Given the description of an element on the screen output the (x, y) to click on. 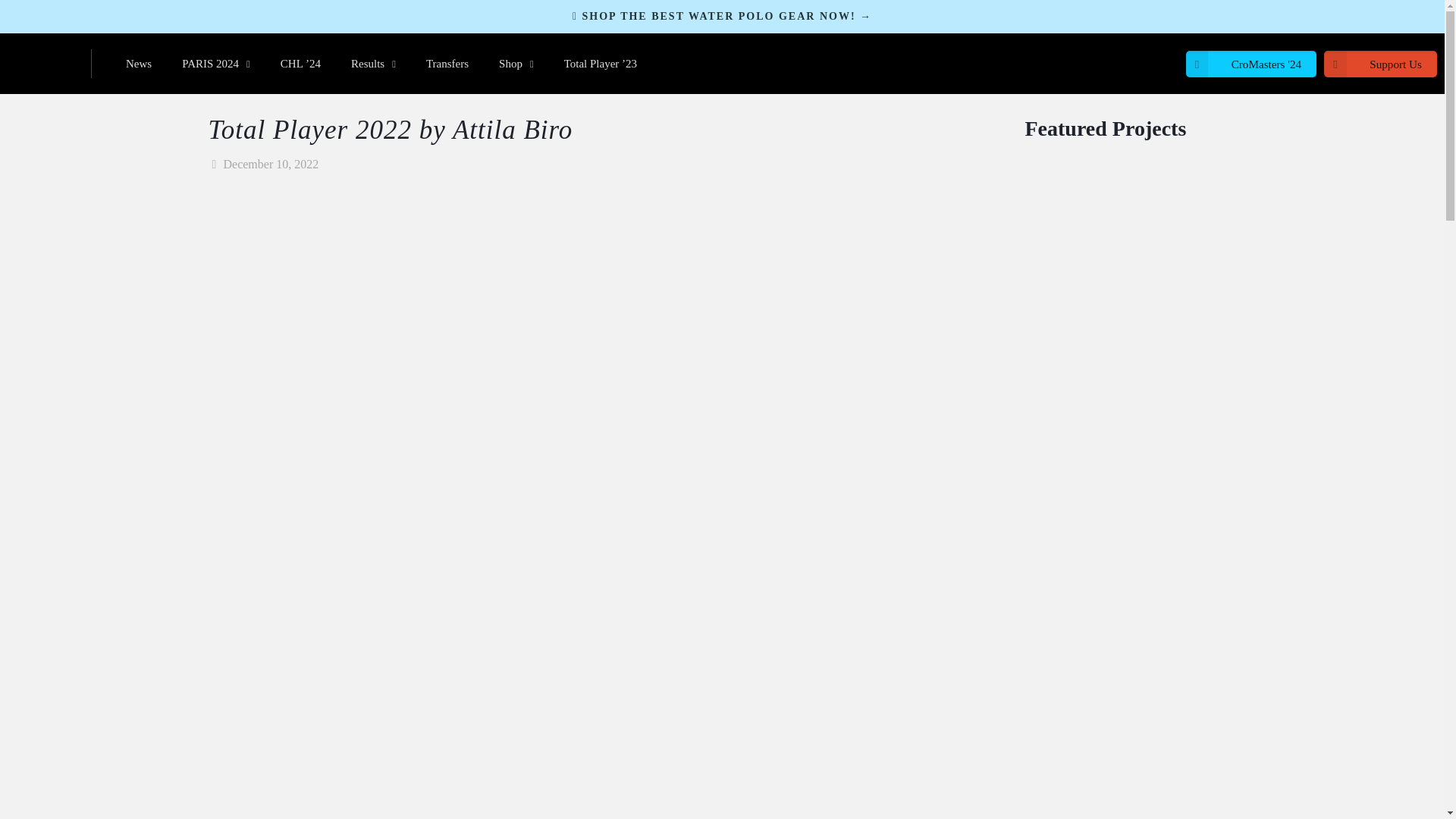
CroMasters '24 (1251, 62)
PARIS 2024 (215, 63)
News (138, 63)
Results (373, 63)
Support us on Patreon (1380, 62)
